Given the description of an element on the screen output the (x, y) to click on. 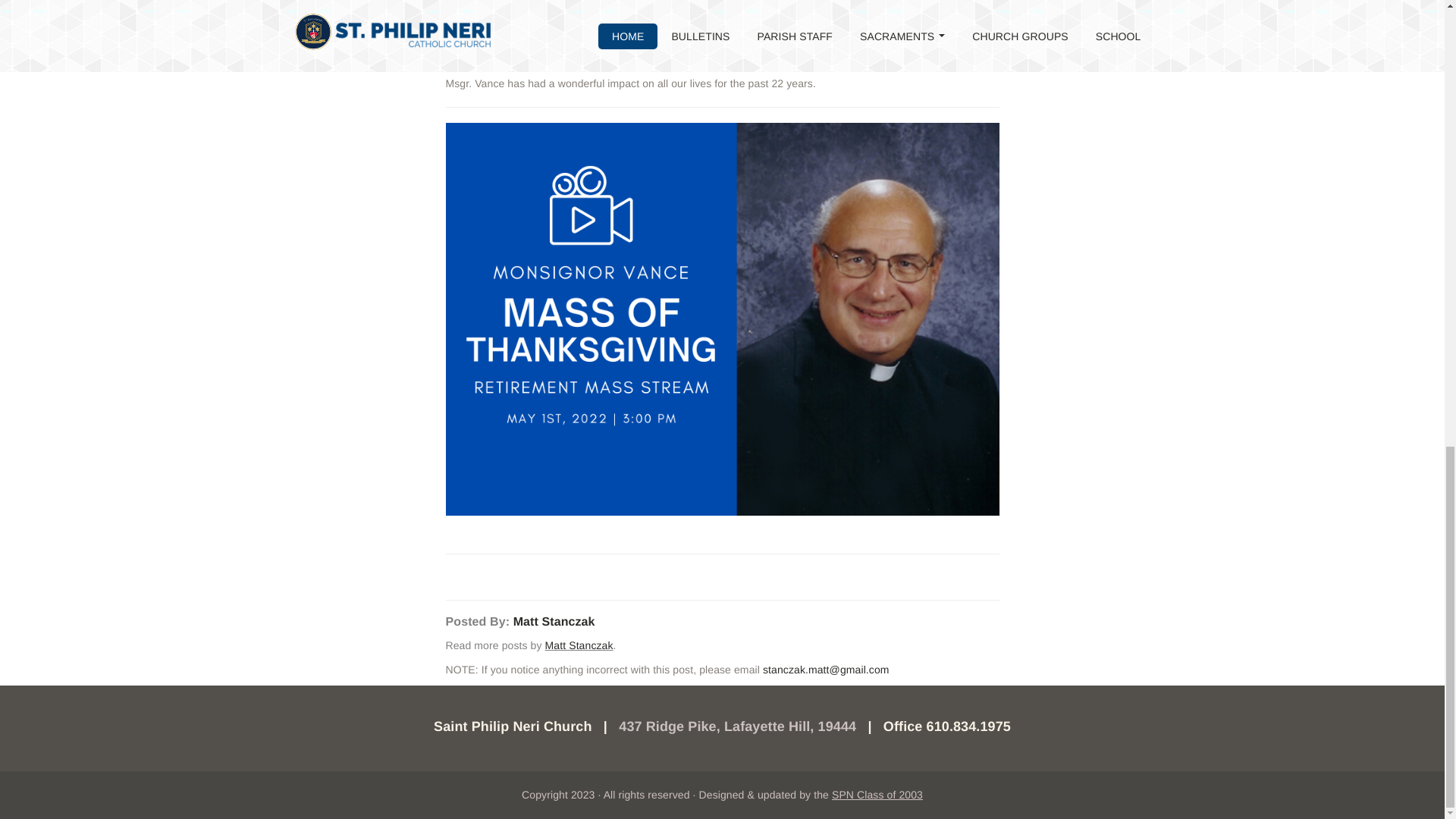
Matt Stanczak (554, 621)
Matt Stanczak (578, 645)
SPN Class of 2003 (877, 794)
437 Ridge Pike, Lafayette Hill, 19444 (737, 726)
